Given the description of an element on the screen output the (x, y) to click on. 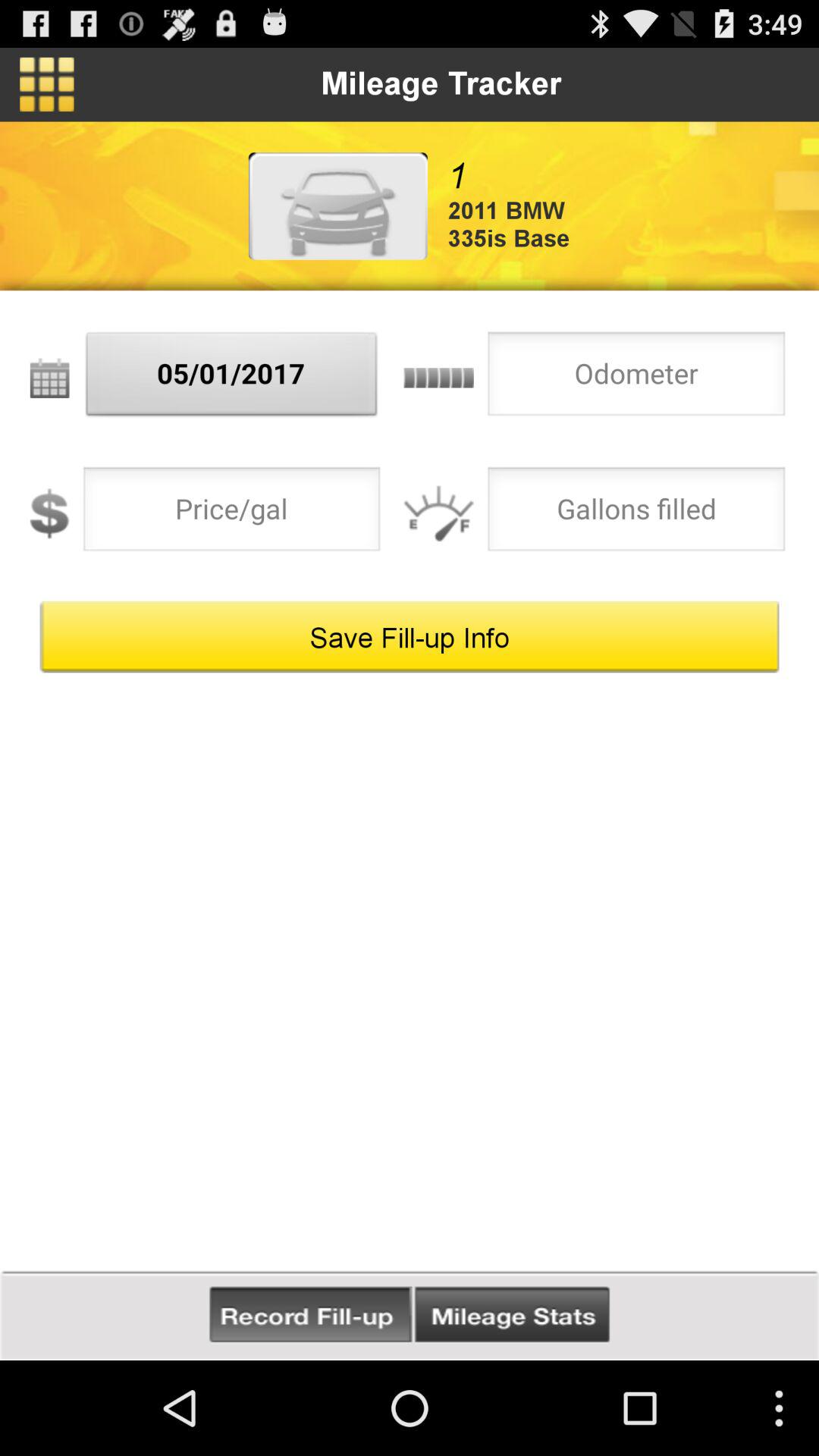
enter odometer mileage (636, 377)
